Given the description of an element on the screen output the (x, y) to click on. 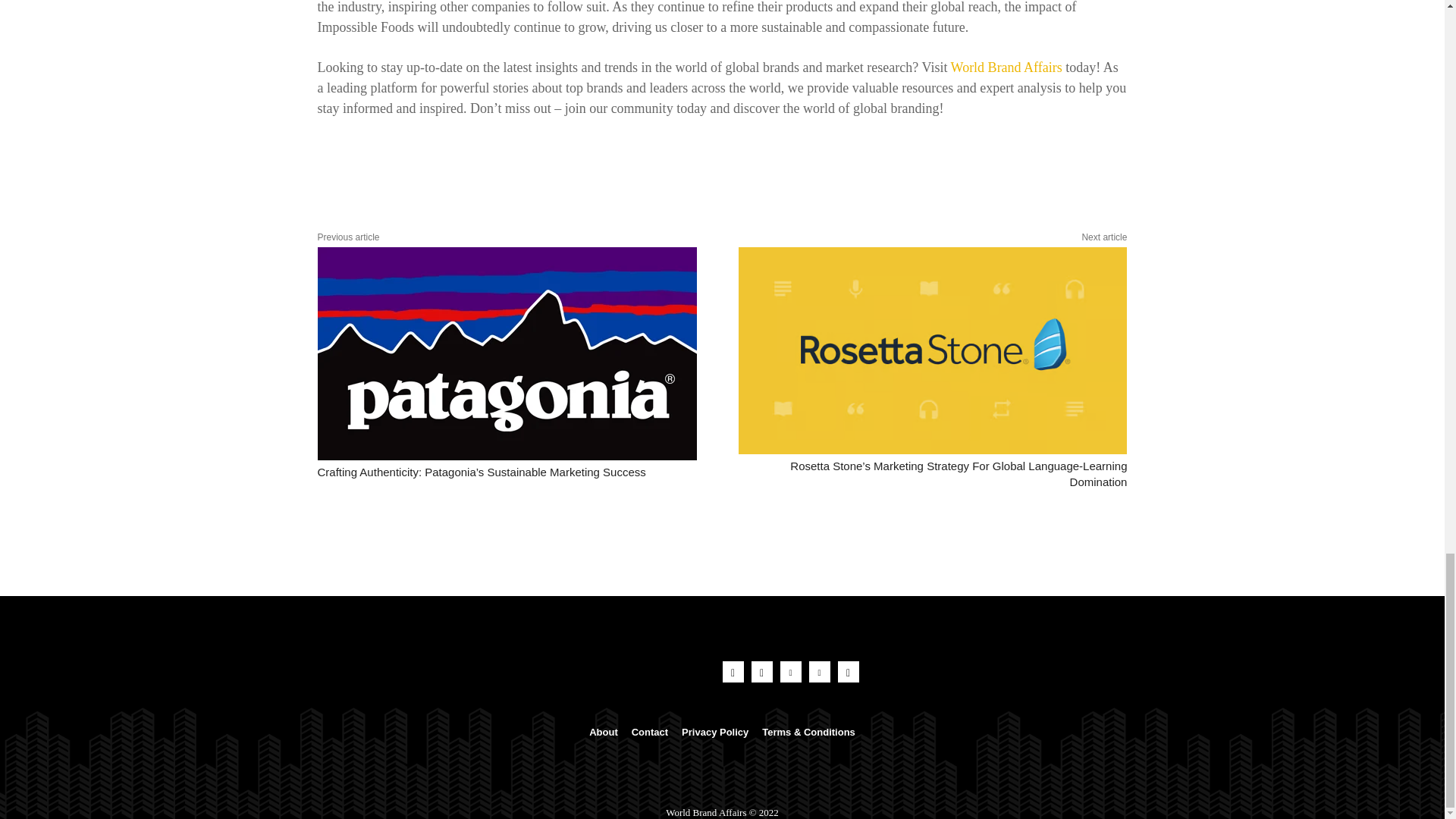
Instagram (761, 671)
Facebook (732, 671)
Twitter (818, 671)
Linkedin (789, 671)
